Given the description of an element on the screen output the (x, y) to click on. 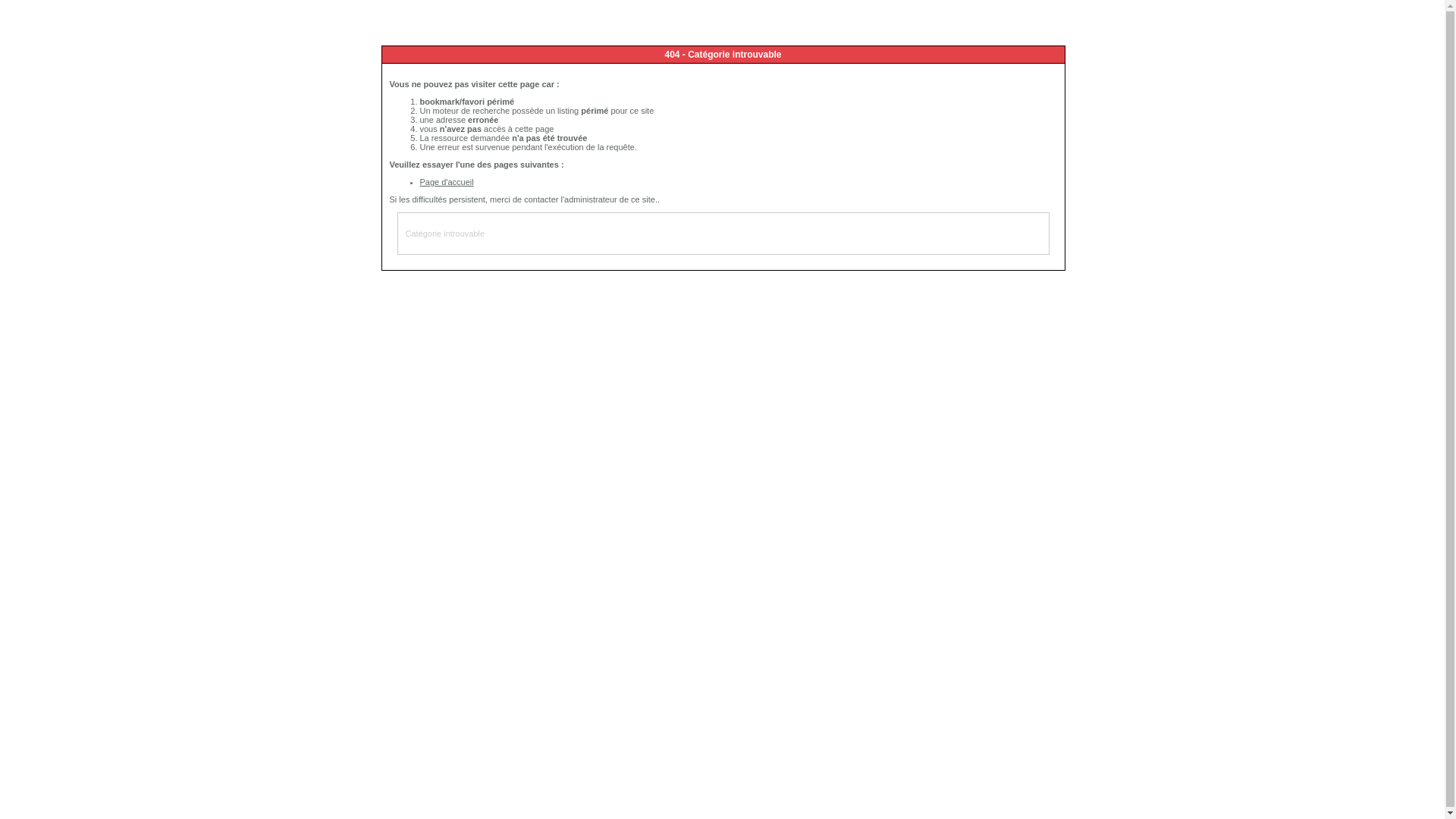
Page d'accueil Element type: text (446, 181)
